Given the description of an element on the screen output the (x, y) to click on. 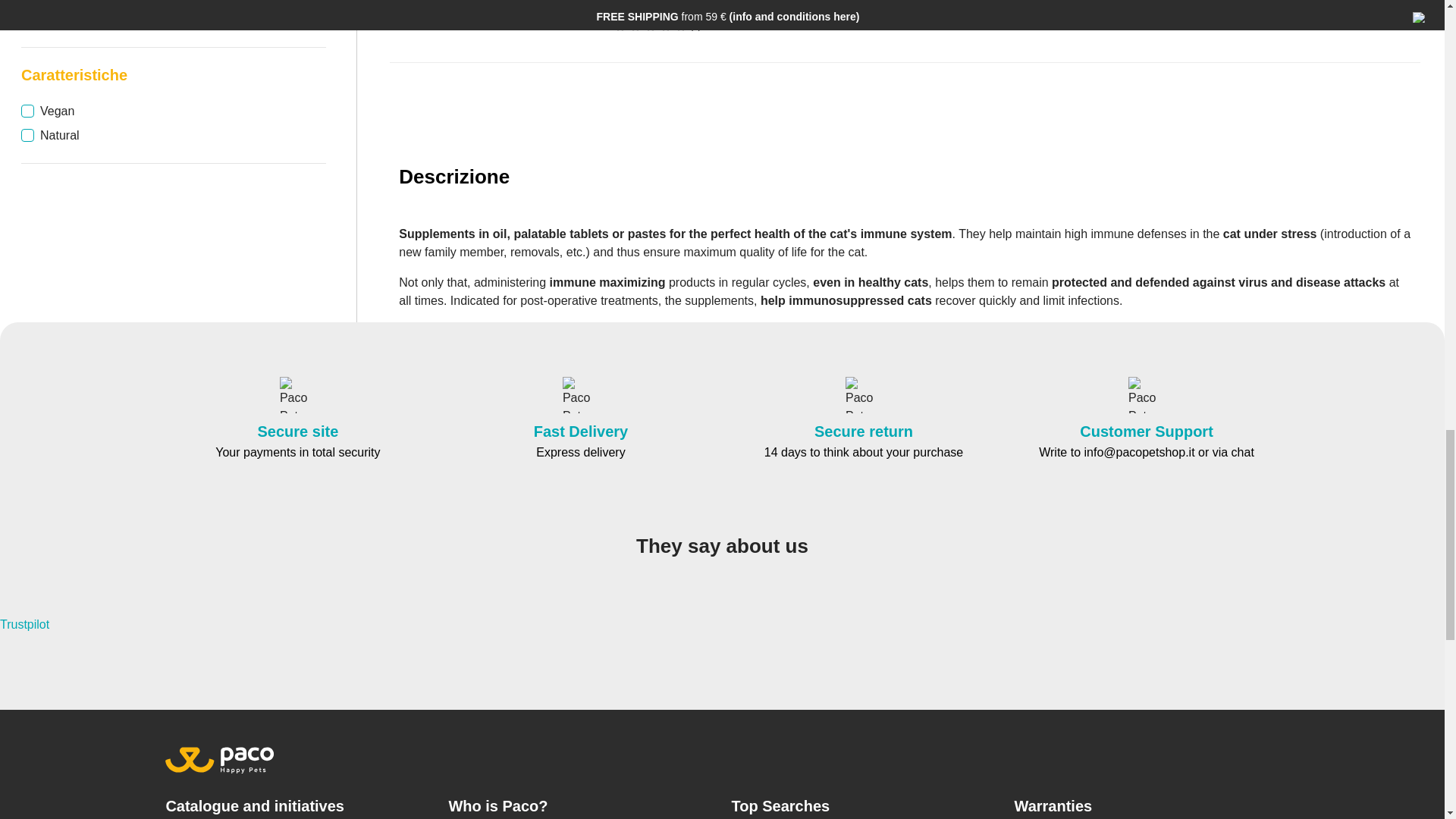
Paco Pet Shop (580, 394)
Paco Pet Shop (863, 394)
Paco Pet Shop (1146, 394)
Paco Pet Shop (297, 394)
